Given the description of an element on the screen output the (x, y) to click on. 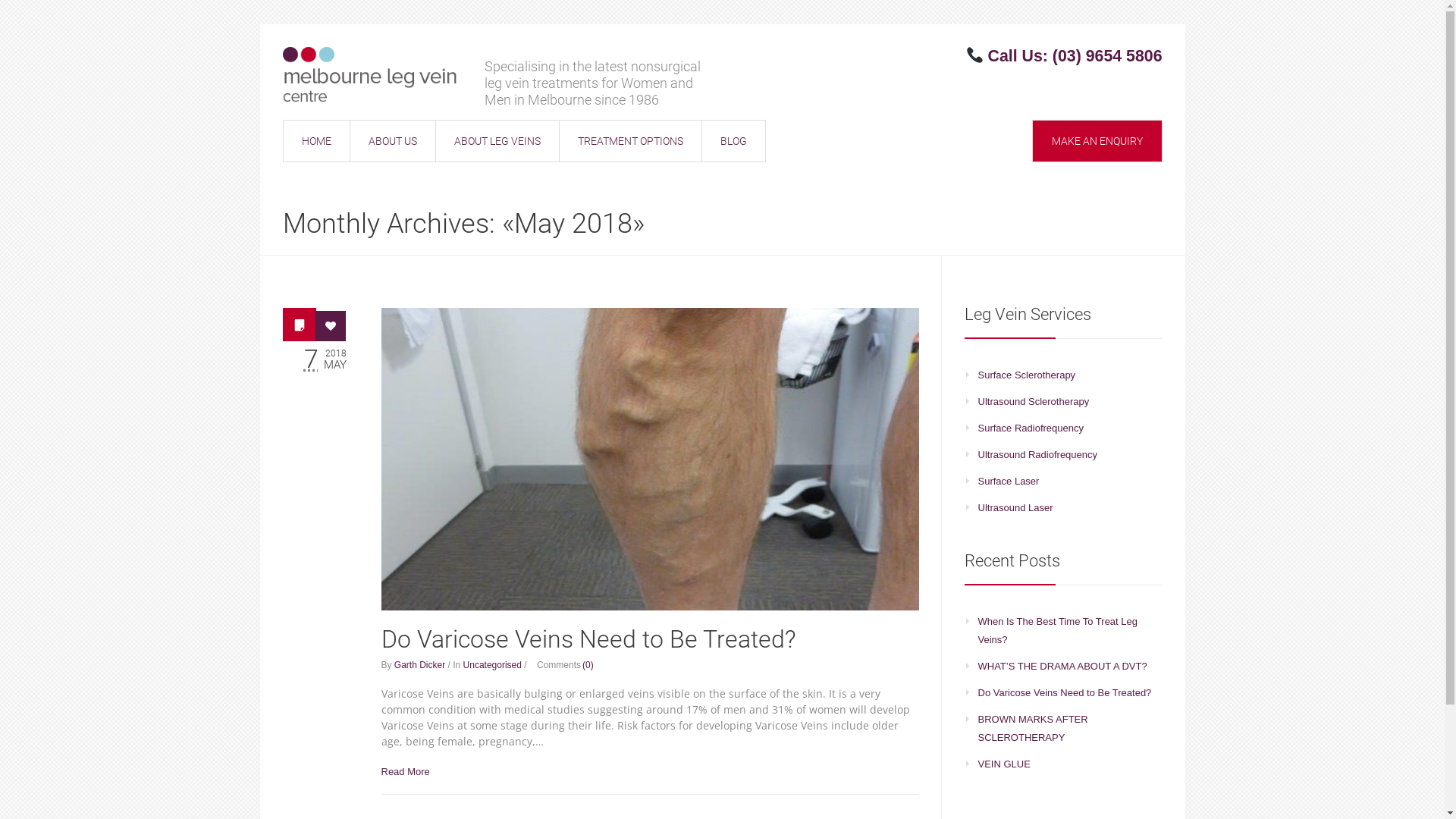
Ultrasound Radiofrequency Element type: text (1038, 454)
Uncategorised Element type: text (492, 664)
Surface Sclerotherapy Element type: text (1027, 374)
Ultrasound Sclerotherapy Element type: text (1033, 401)
TREATMENT OPTIONS Element type: text (629, 140)
MAKE AN ENQUIRY Element type: text (1096, 140)
Do Varicose Veins Need to Be Treated? Element type: text (1064, 692)
BLOG Element type: text (732, 140)
ABOUT LEG VEINS Element type: text (497, 140)
Do Varicose Veins Need to Be Treated? Element type: hover (649, 458)
When Is The Best Time To Treat Leg Veins? Element type: text (1058, 630)
Surface Laser Element type: text (1008, 480)
Garth Dicker Element type: text (419, 664)
VEIN GLUE Element type: text (1004, 763)
Do Varicose Veins Need to Be Treated? Element type: text (587, 638)
HOME Element type: text (315, 140)
Read More Element type: text (404, 771)
(0) Element type: text (586, 664)
ABOUT US Element type: text (391, 140)
Call Us: (03) 9654 5806 Element type: text (1074, 56)
Surface Radiofrequency Element type: text (1030, 427)
Melbourne Leg Vein Centre Element type: hover (369, 74)
BROWN MARKS AFTER SCLEROTHERAPY Element type: text (1033, 728)
Ultrasound Laser Element type: text (1015, 507)
